Given the description of an element on the screen output the (x, y) to click on. 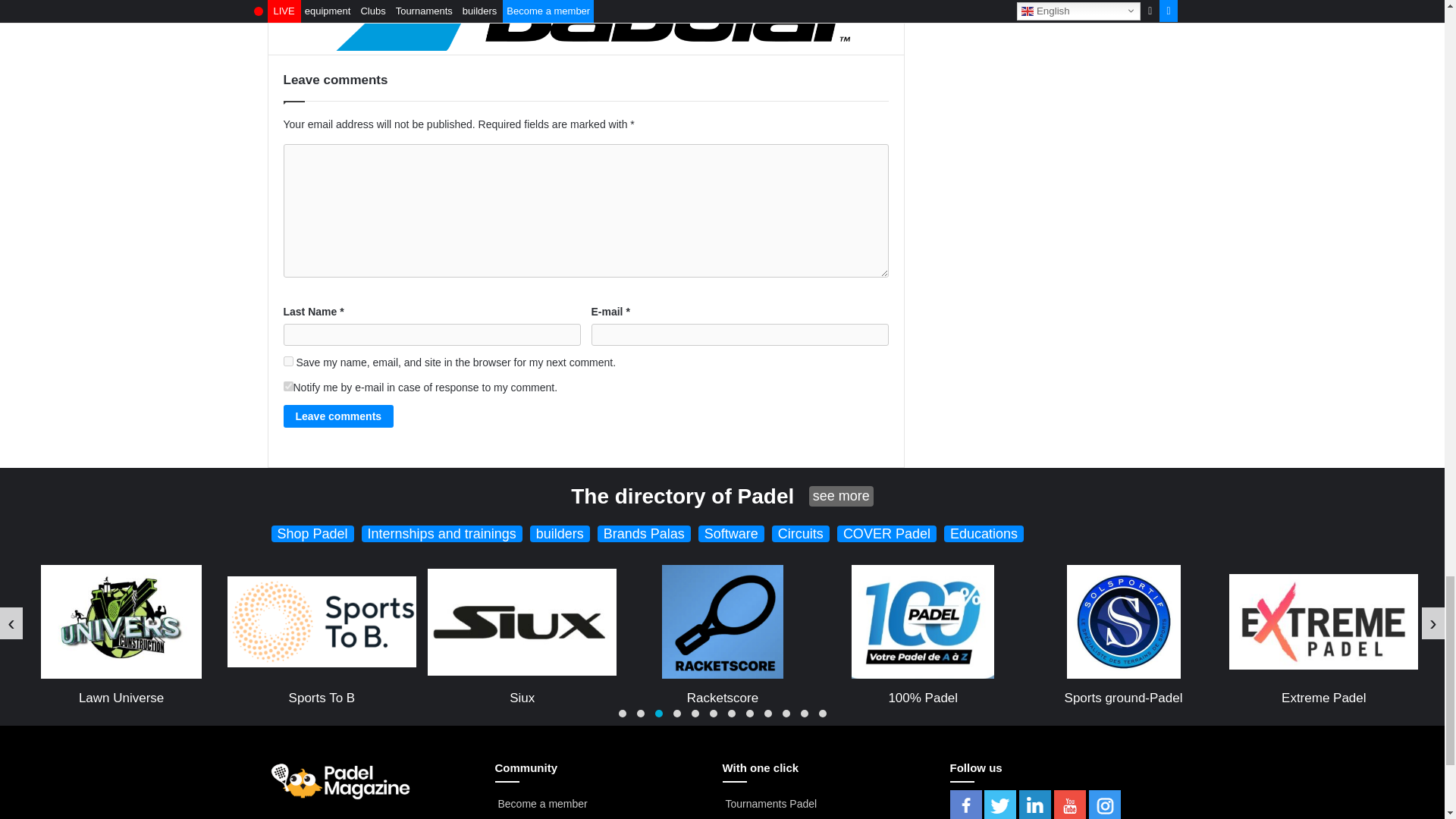
Leave comments (338, 415)
on (288, 386)
yes (288, 361)
